Given the description of an element on the screen output the (x, y) to click on. 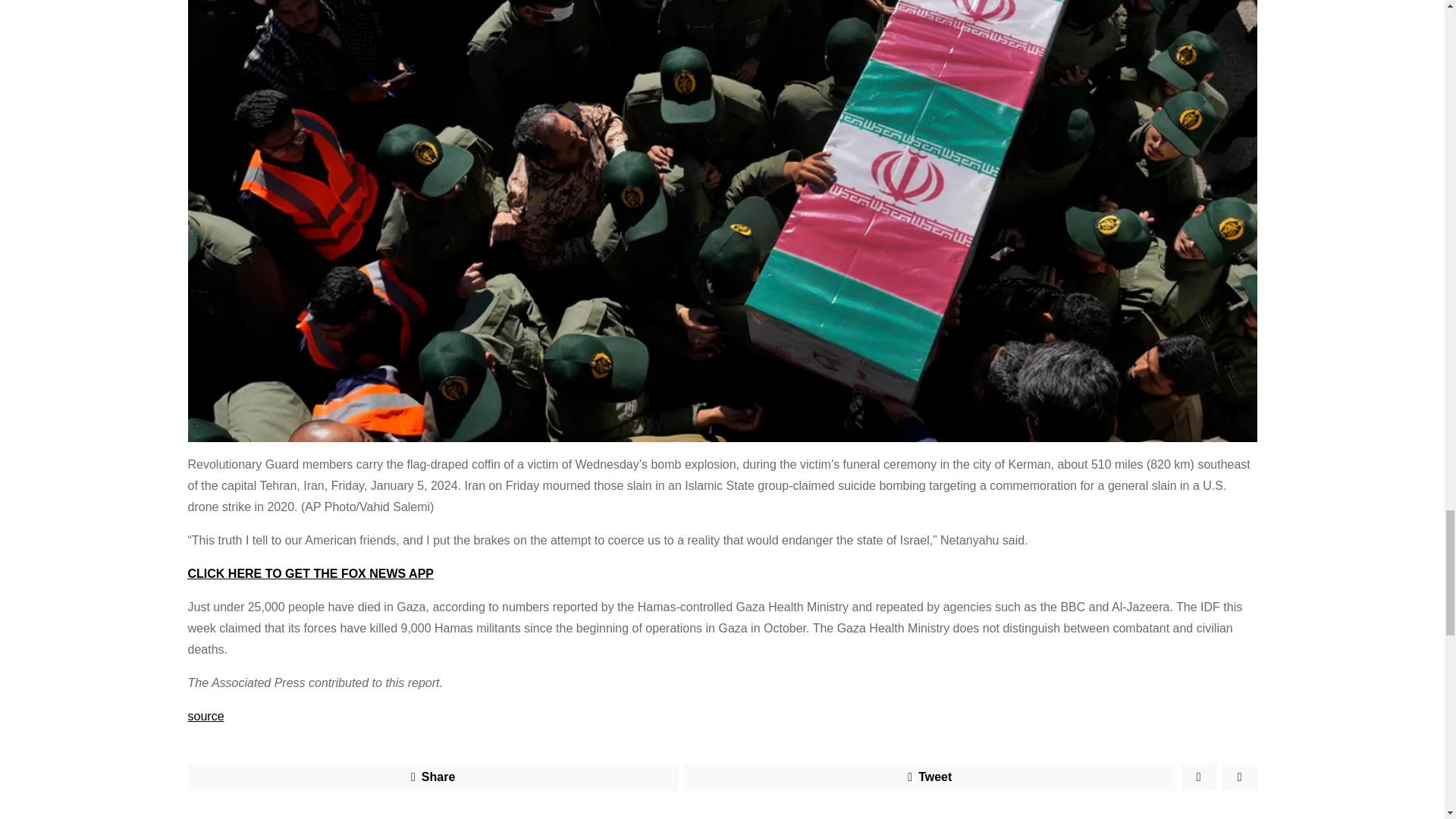
source (205, 716)
CLICK HERE TO GET THE FOX NEWS APP (310, 573)
Share (432, 777)
Tweet (929, 777)
January 22, 2024 (302, 816)
